Given the description of an element on the screen output the (x, y) to click on. 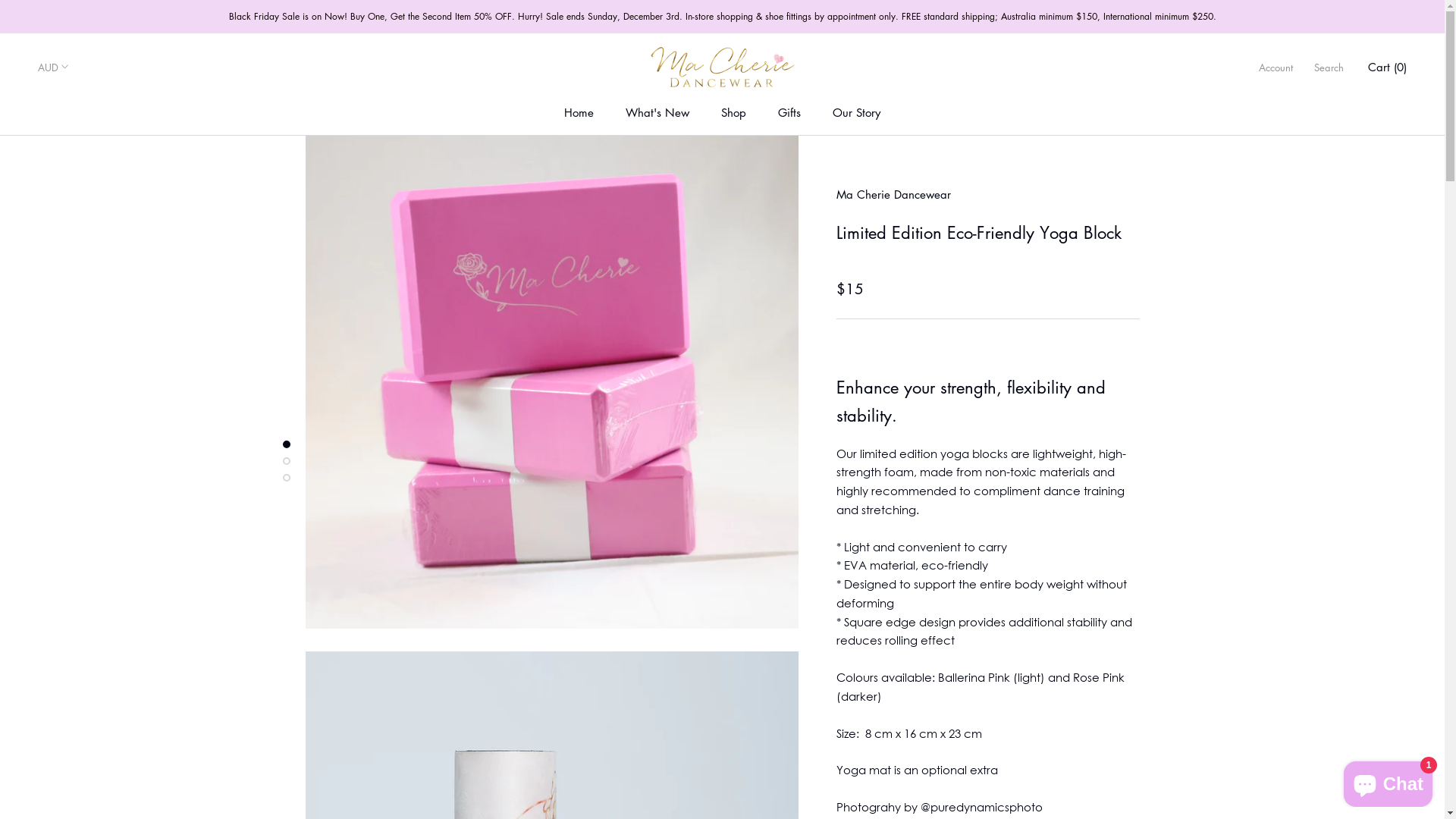
Account Element type: text (1275, 67)
Cart (0) Element type: text (1387, 66)
Search Element type: text (1328, 67)
Gifts
Gifts Element type: text (789, 111)
Home
Home Element type: text (578, 111)
Our Story
Our Story Element type: text (856, 111)
Shop
Shop Element type: text (733, 111)
Shopify online store chat Element type: hover (1388, 780)
What's New
What's New Element type: text (657, 111)
